Given the description of an element on the screen output the (x, y) to click on. 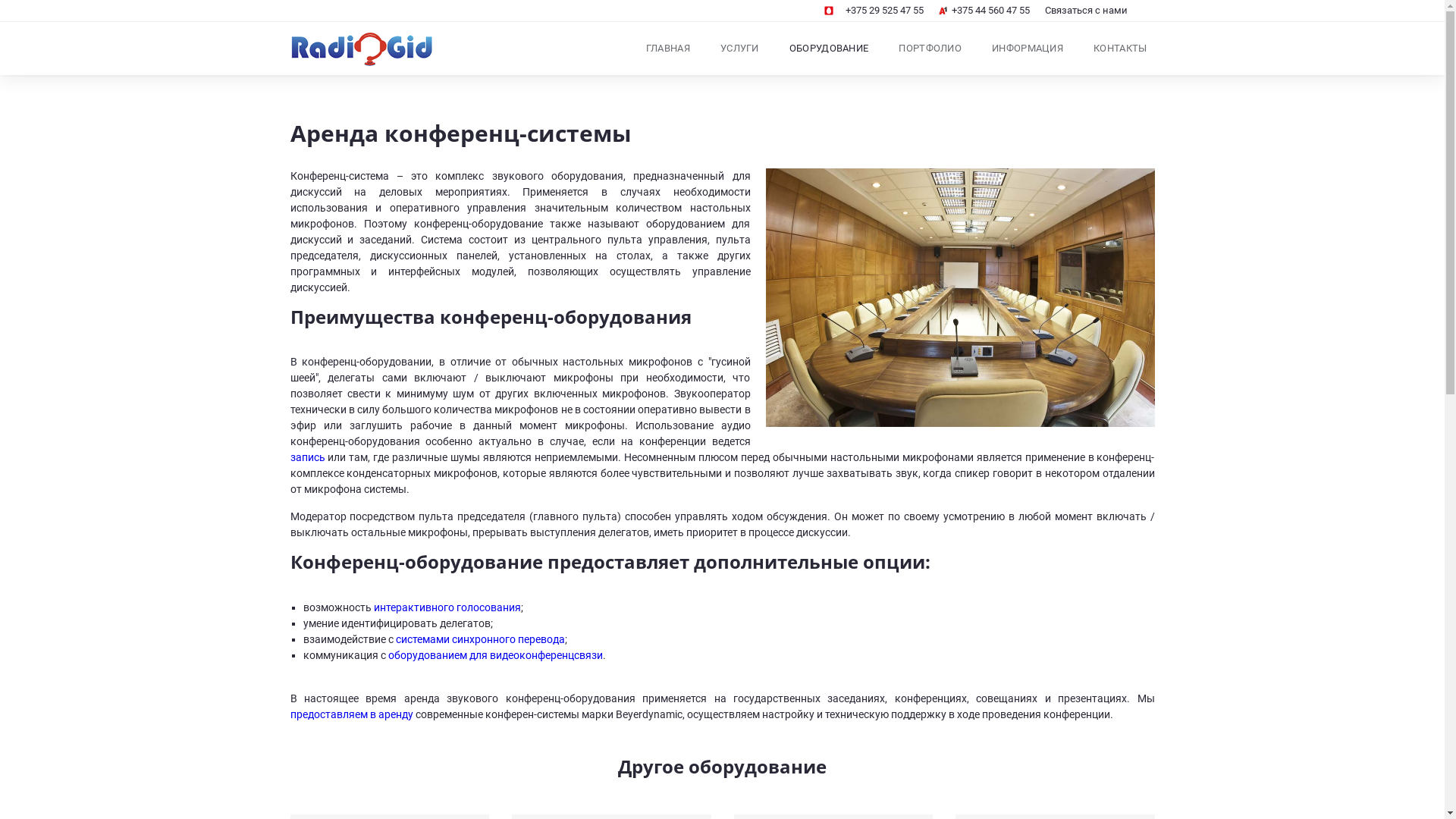
+375 44 560 47 55 Element type: text (983, 9)
+375 29 525 47 55 Element type: text (873, 9)
